Given the description of an element on the screen output the (x, y) to click on. 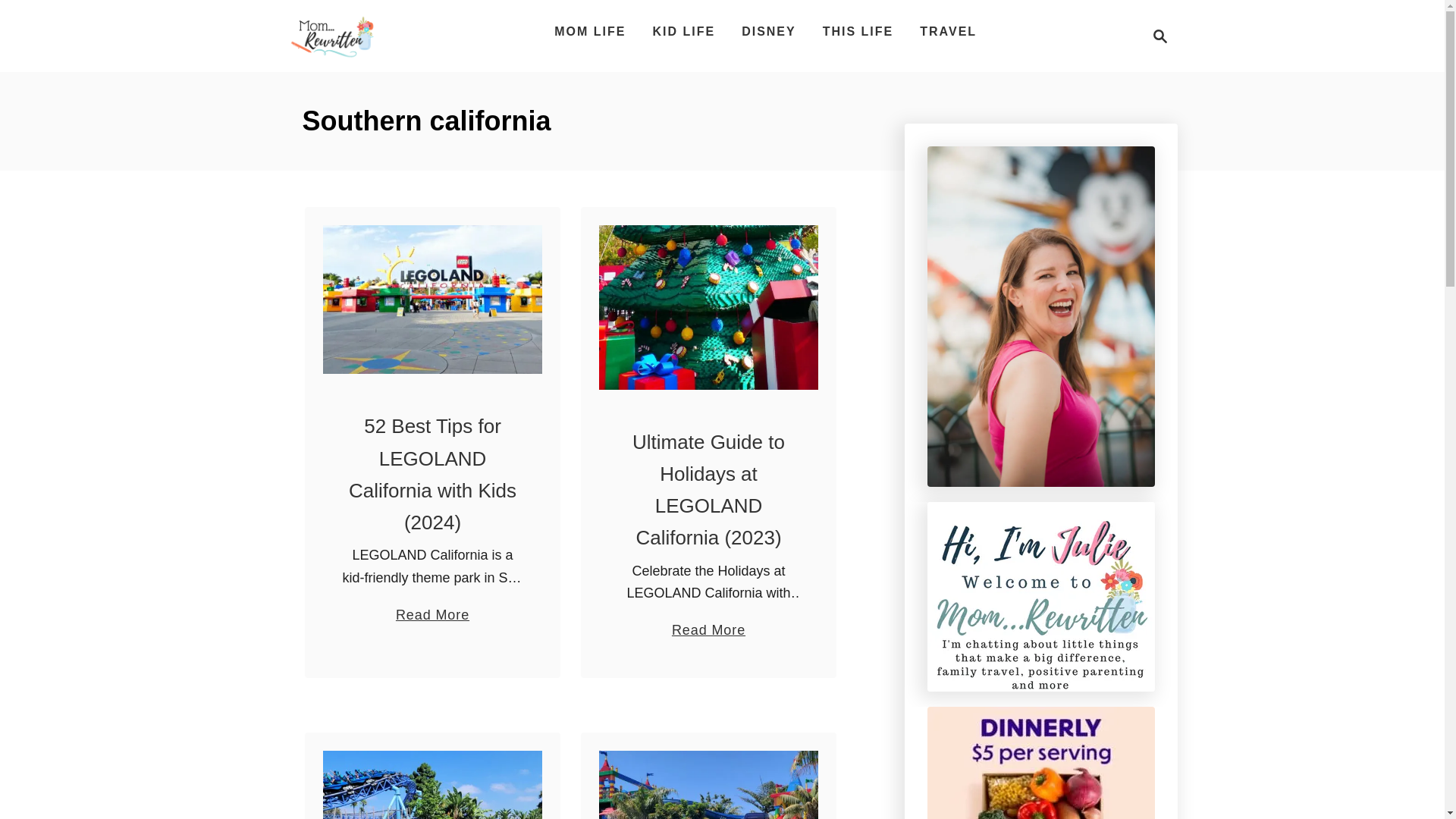
THIS LIFE (858, 31)
KID LIFE (683, 31)
Mom Rewritten (332, 35)
MOM LIFE (590, 31)
TRAVEL (948, 31)
Magnifying Glass (1155, 36)
DISNEY (1160, 36)
